Given the description of an element on the screen output the (x, y) to click on. 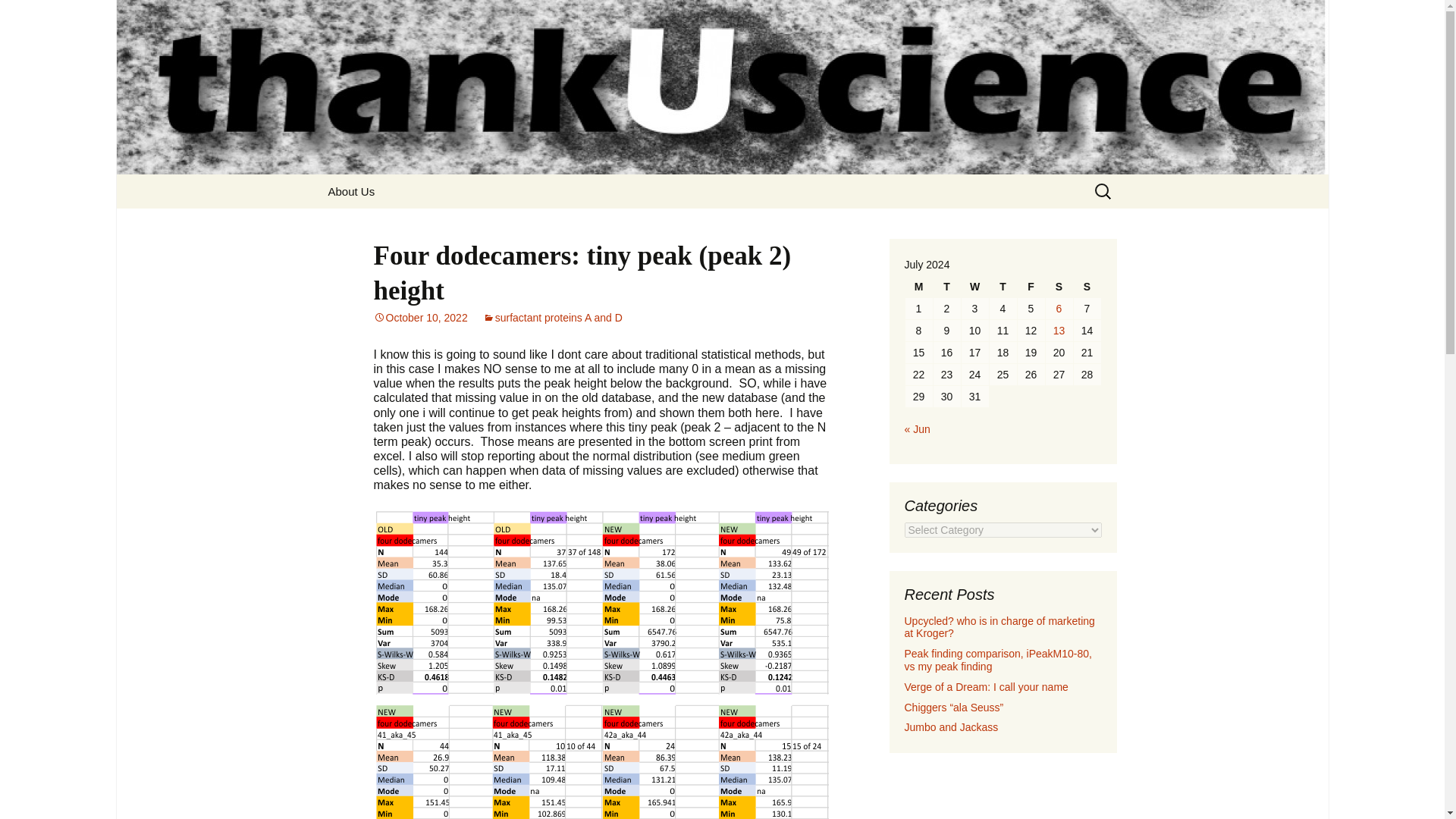
Jumbo and Jackass (950, 727)
surfactant proteins A and D (553, 317)
Tuesday (946, 286)
Search (34, 15)
Upcycled? who is in charge of marketing at Kroger? (999, 627)
Thursday (1002, 286)
Verge of a Dream: I call your name (985, 686)
About Us (351, 191)
Search (18, 15)
Sunday (1087, 286)
6 (1058, 308)
Wednesday (974, 286)
October 10, 2022 (419, 317)
